Given the description of an element on the screen output the (x, y) to click on. 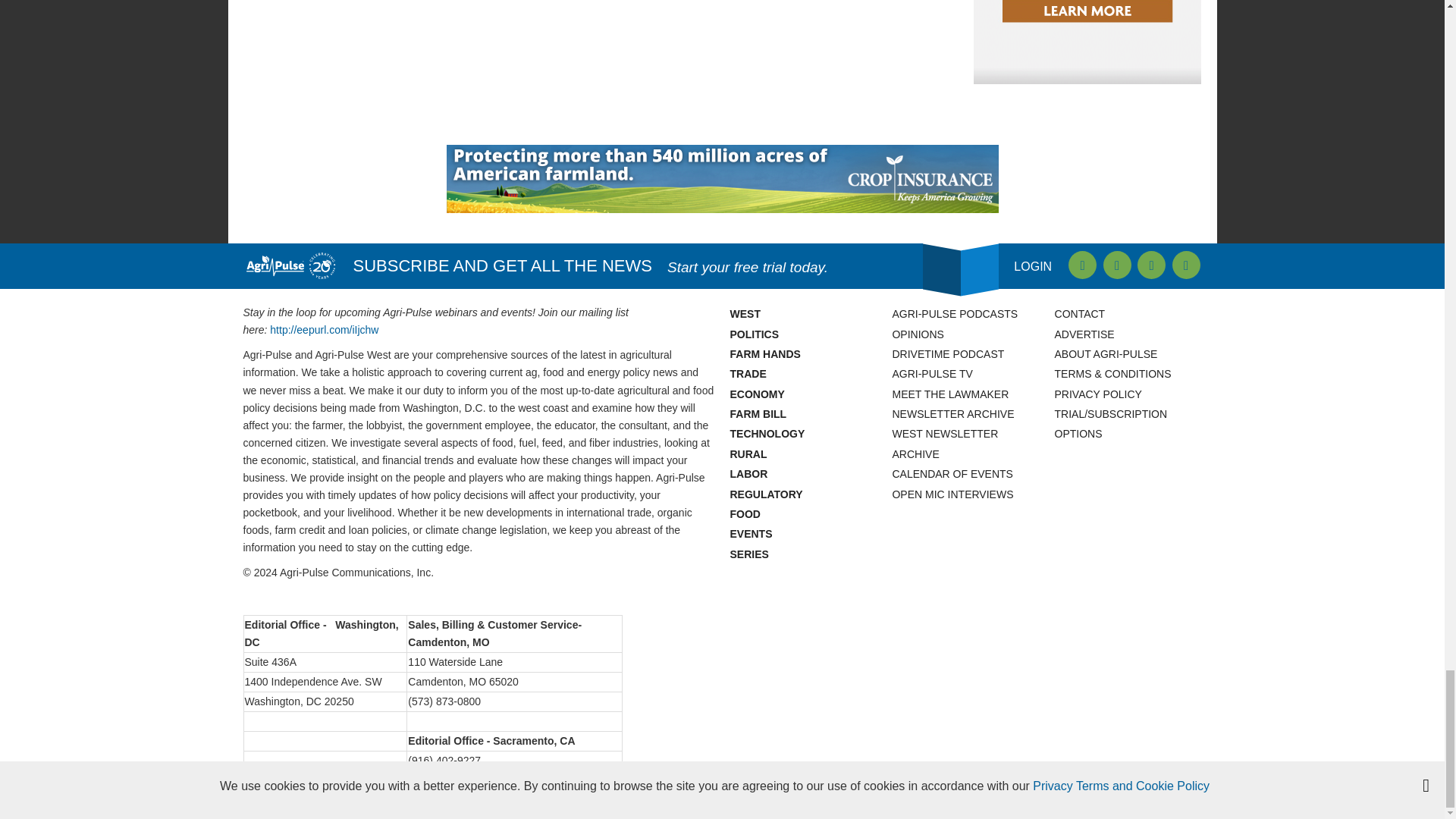
3rd party ad content (721, 178)
3rd party ad content (1087, 42)
